Given the description of an element on the screen output the (x, y) to click on. 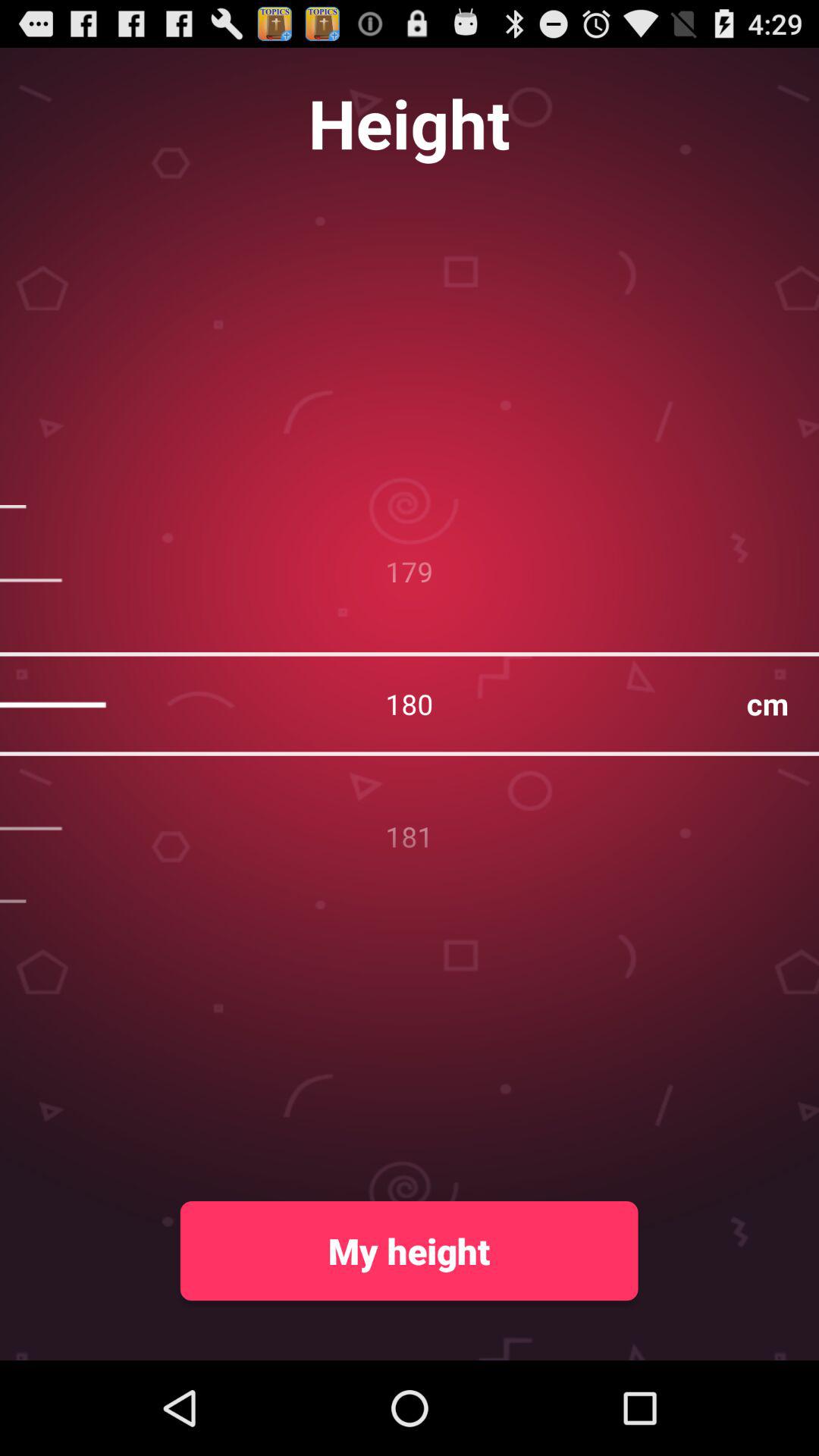
click the 180 at the center (409, 703)
